Given the description of an element on the screen output the (x, y) to click on. 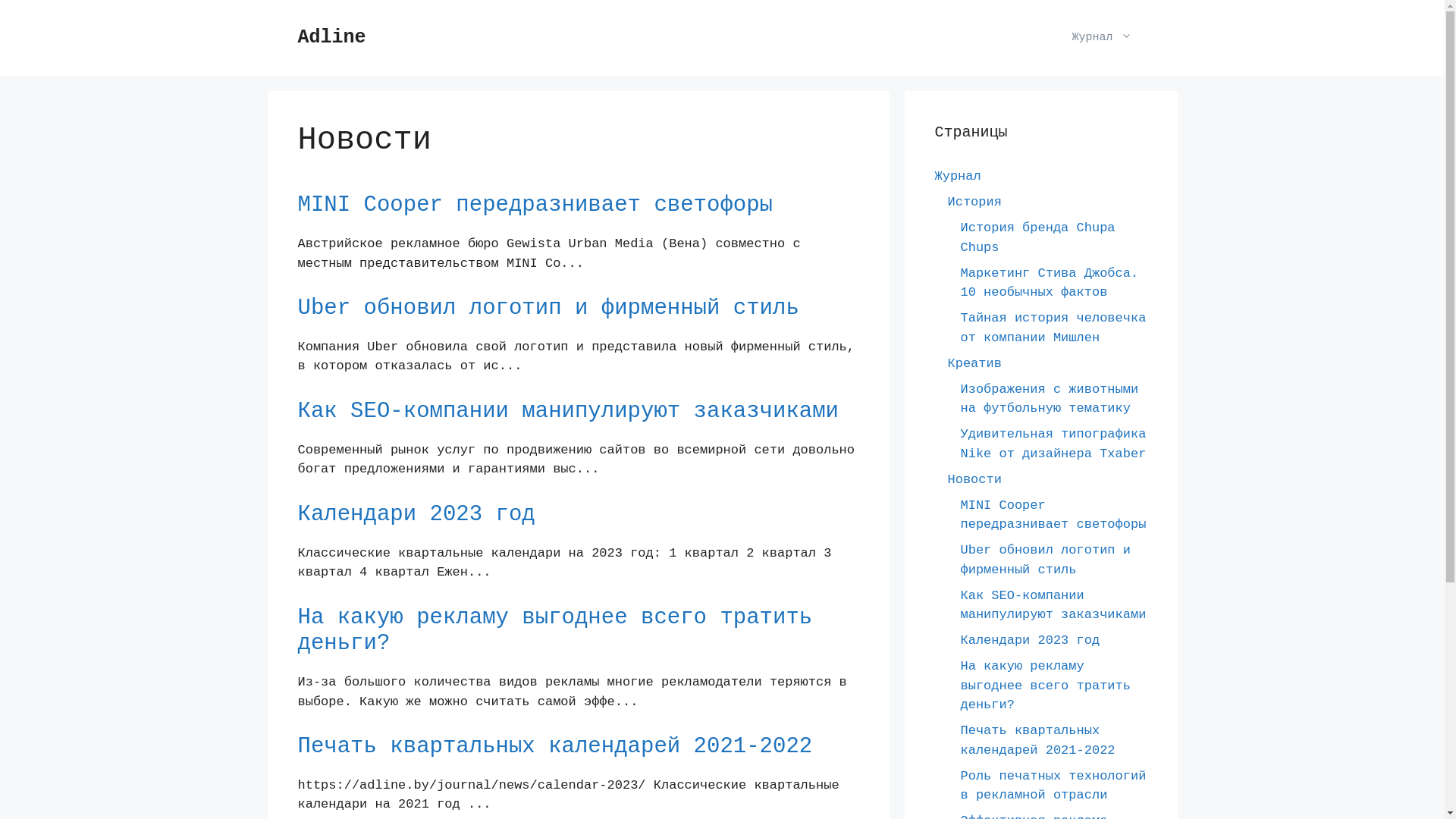
Adline Element type: text (331, 37)
